Given the description of an element on the screen output the (x, y) to click on. 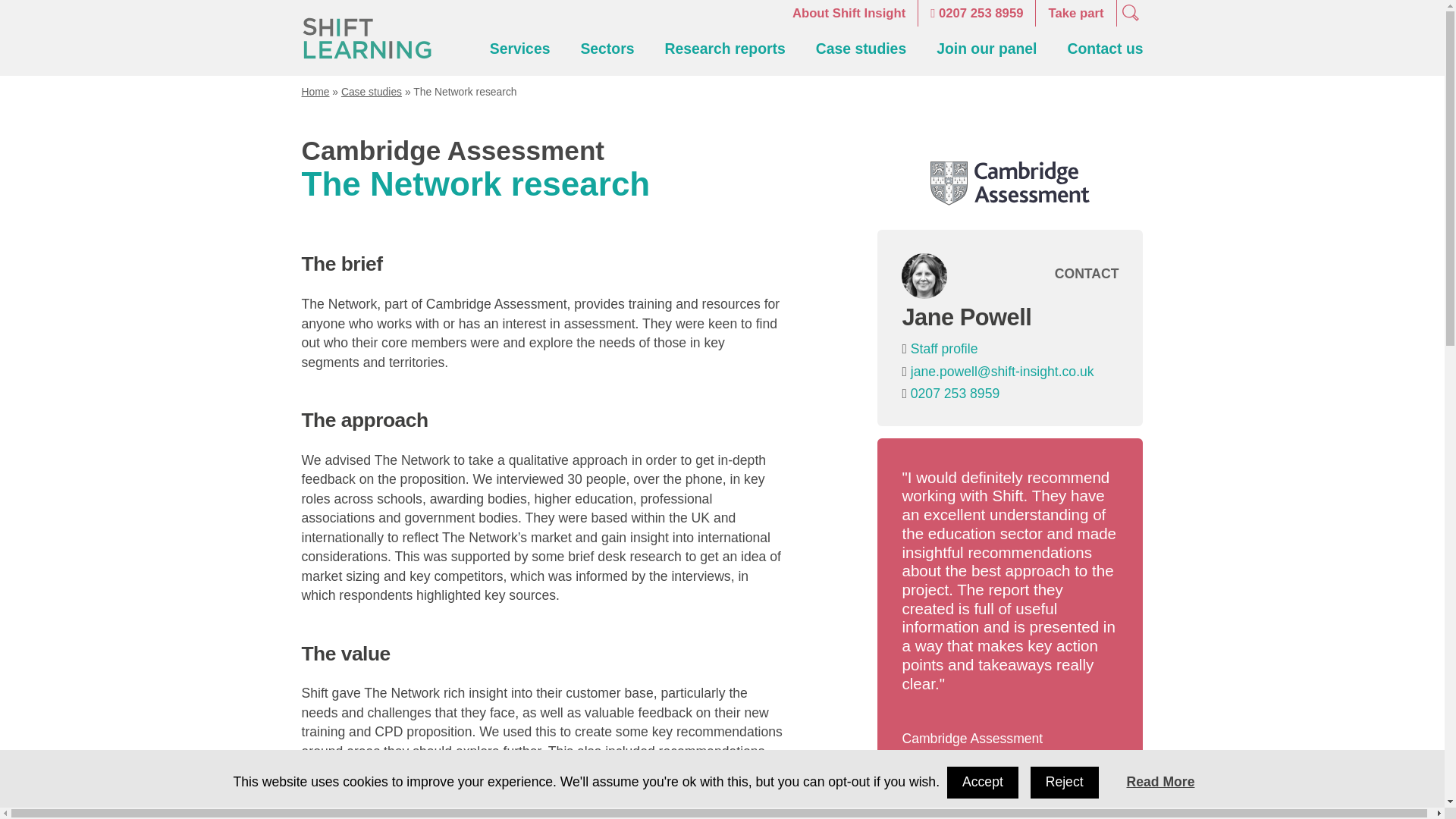
Case studies (860, 48)
Shift Learning (365, 37)
0207 253 8959 (954, 393)
0207 253 8959 (976, 13)
Read More (1160, 781)
Staff profile (944, 348)
Research reports (723, 48)
Case studies (370, 91)
About Shift Insight (849, 13)
